Given the description of an element on the screen output the (x, y) to click on. 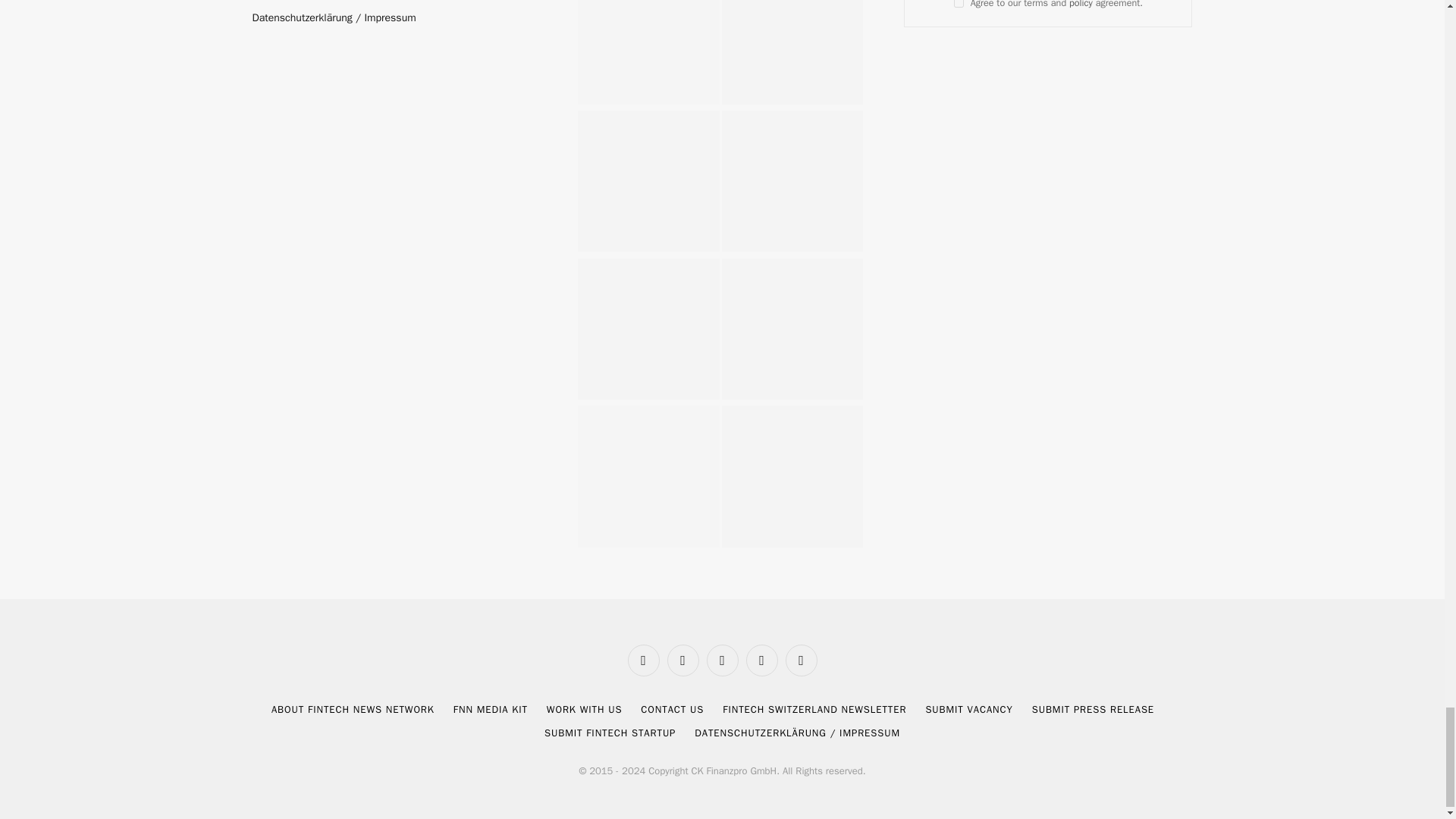
on (958, 3)
